Given the description of an element on the screen output the (x, y) to click on. 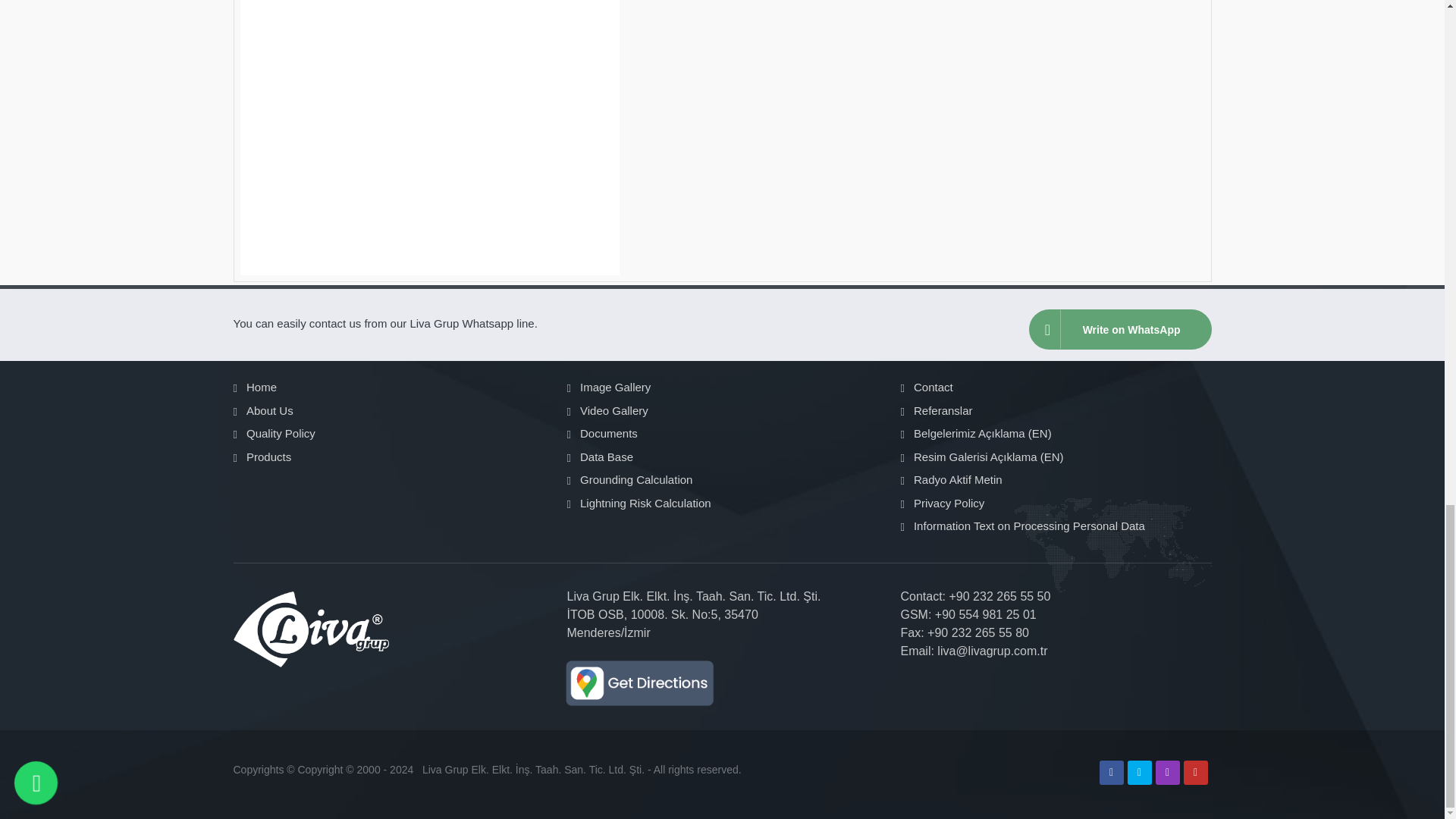
E-Posta (916, 650)
Telefon (921, 595)
GSM (915, 614)
Faks (911, 632)
